Given the description of an element on the screen output the (x, y) to click on. 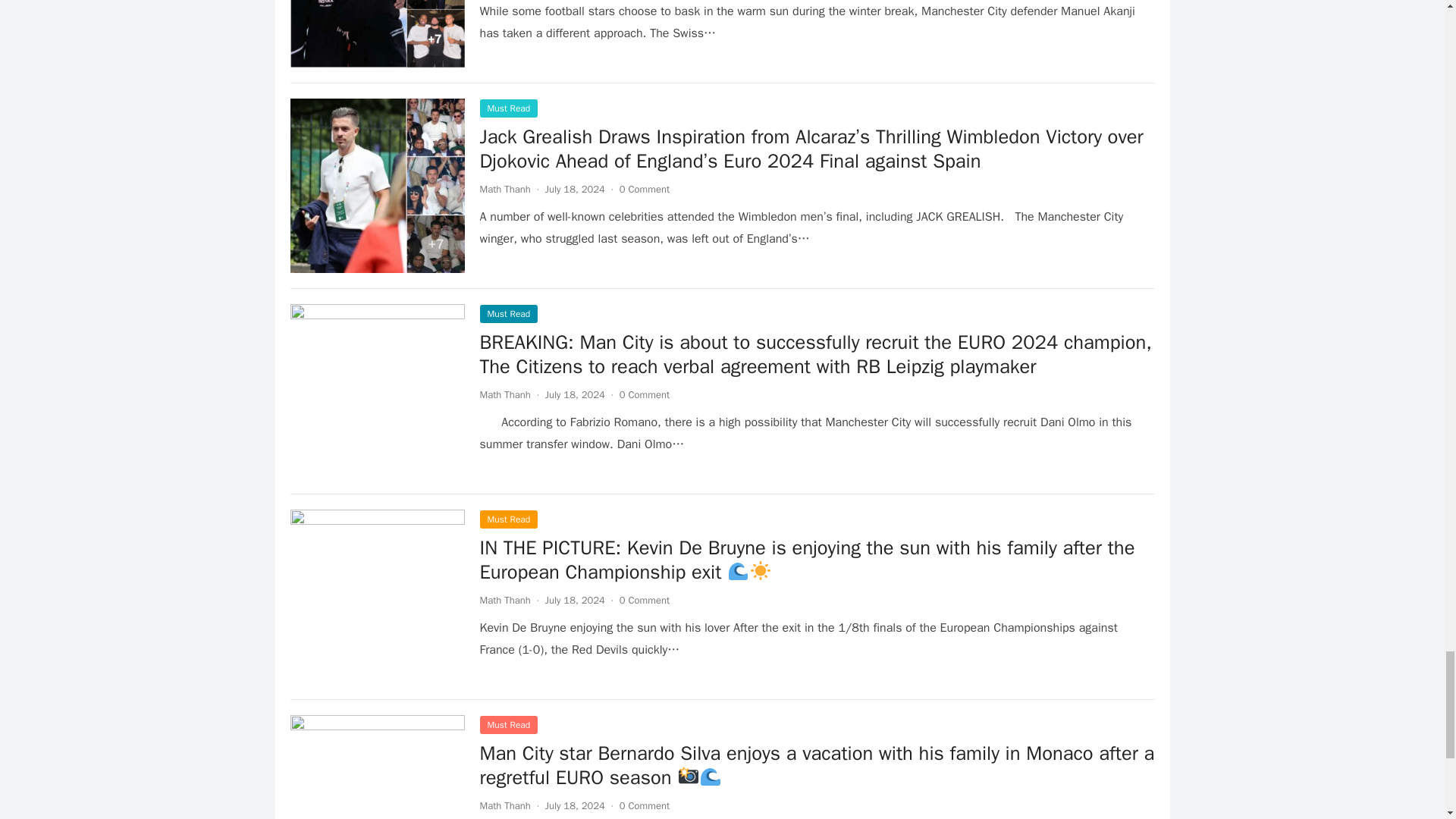
Posts by Math Thanh (504, 188)
Posts by Math Thanh (504, 805)
Must Read (508, 108)
Must Read (508, 313)
Posts by Math Thanh (504, 394)
0 Comment (644, 188)
Math Thanh (504, 394)
Posts by Math Thanh (504, 599)
Math Thanh (504, 188)
